Given the description of an element on the screen output the (x, y) to click on. 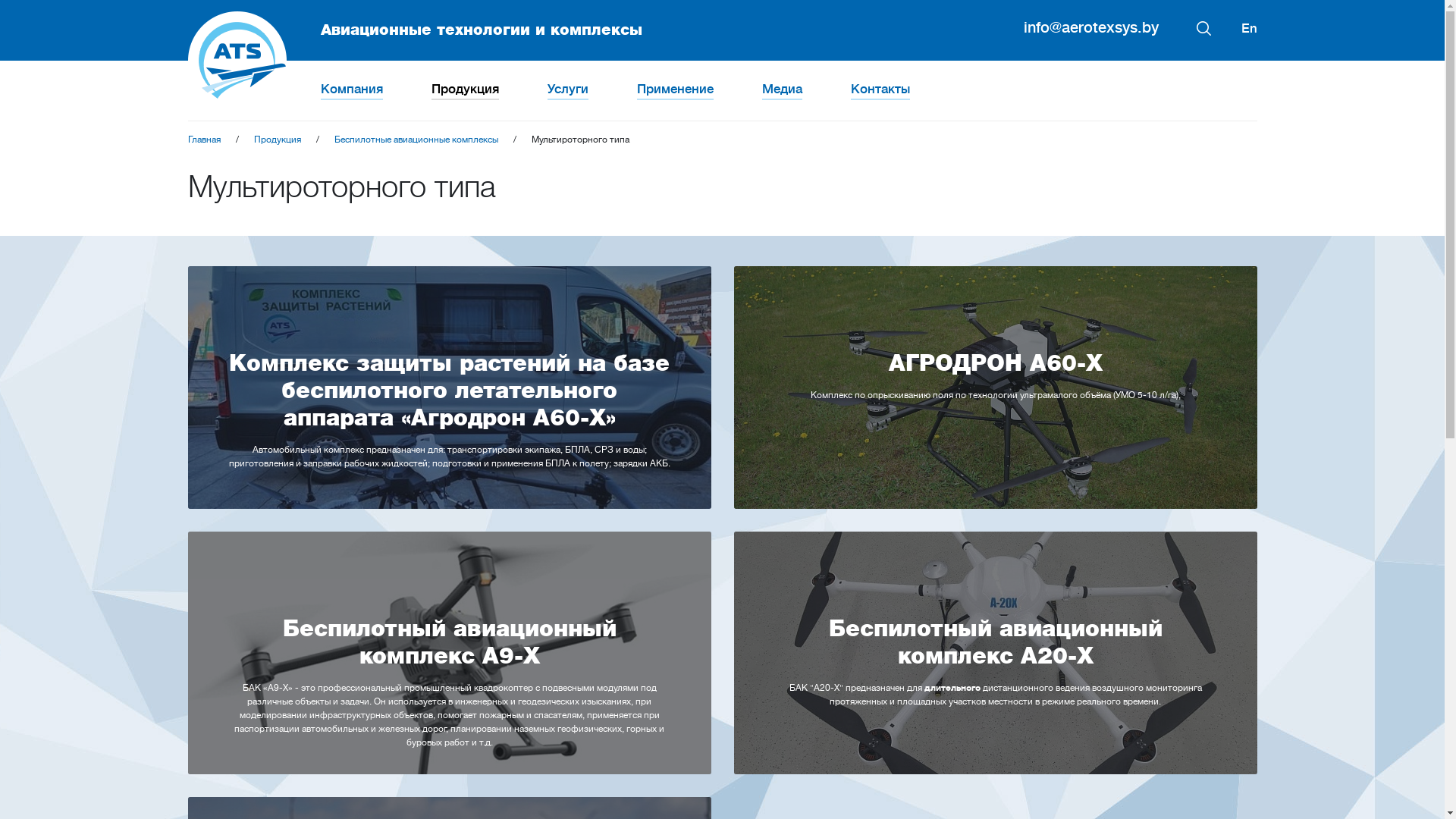
En Element type: text (1248, 28)
info@aerotexsys.by Element type: text (1090, 27)
